Given the description of an element on the screen output the (x, y) to click on. 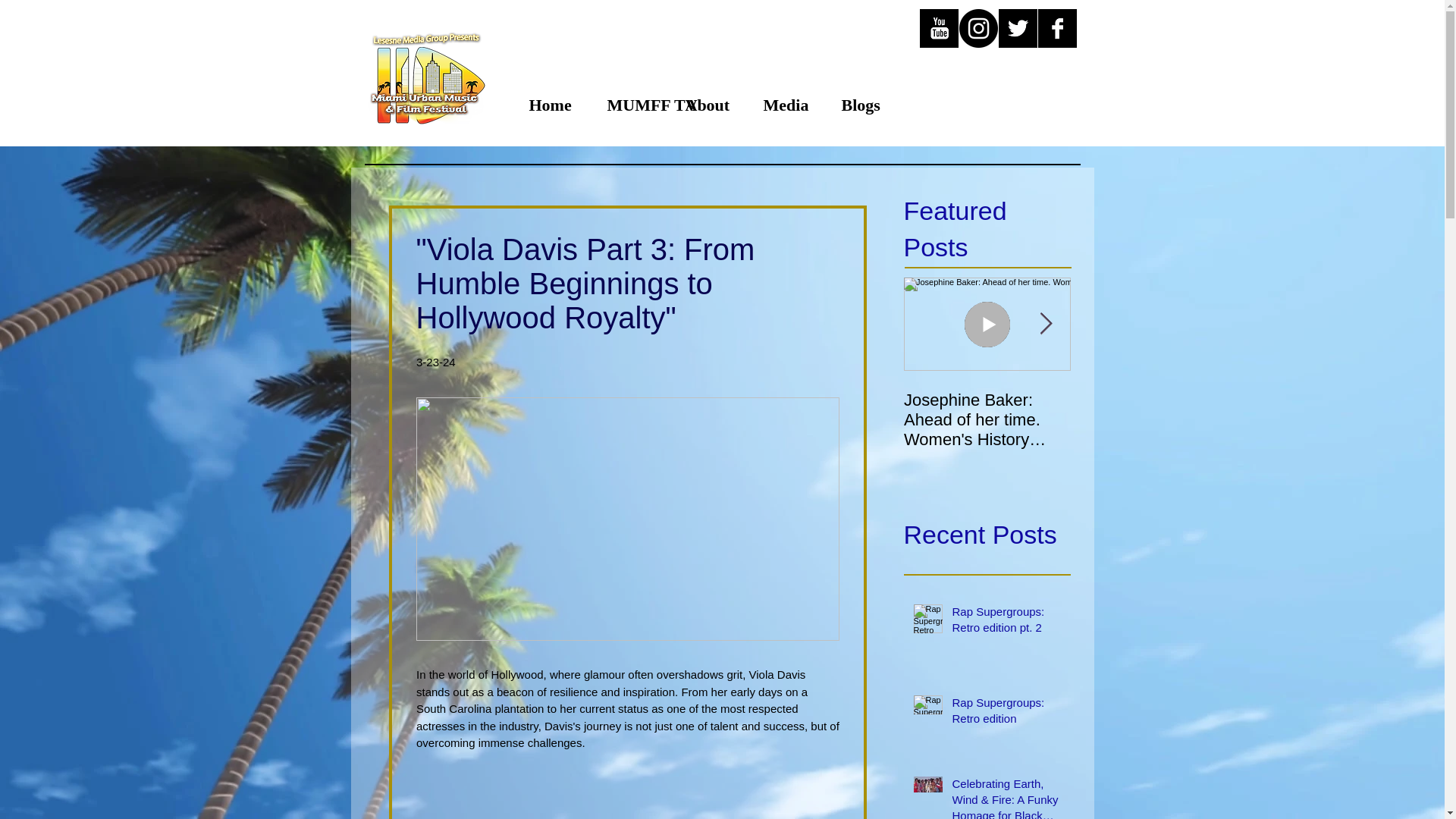
About (711, 105)
Rap Supergroups: Retro edition (1006, 713)
Rap Supergroups: Retro edition pt. 2 (1006, 622)
MUMFF TV (634, 105)
Blogs (868, 105)
Zendaya's versatility is her superpower: HOLLYWOOD SPOTLIGHT (1153, 419)
Media (790, 105)
Home (555, 105)
